Given the description of an element on the screen output the (x, y) to click on. 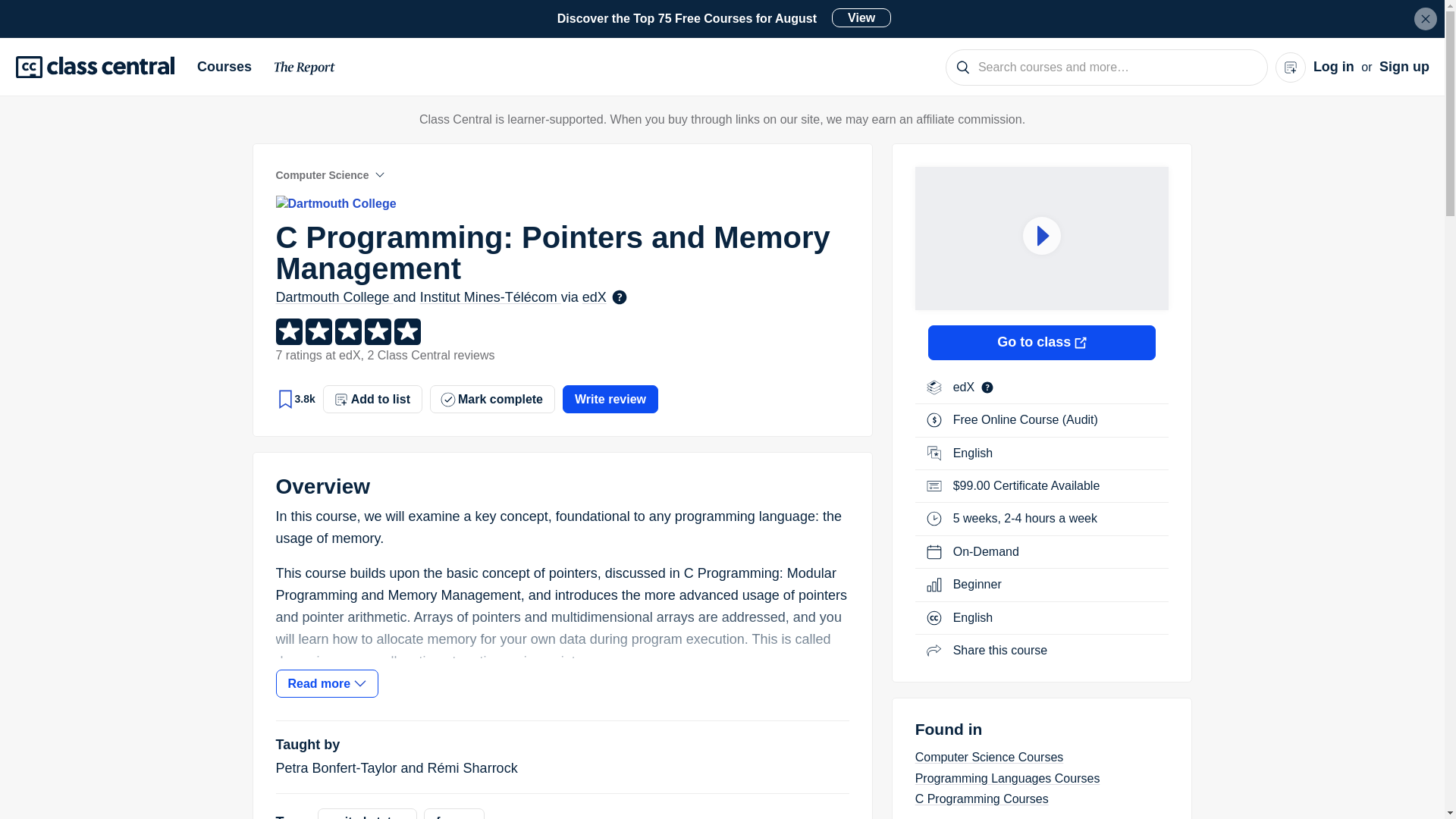
Courses (229, 66)
List of edX MOOCs (965, 386)
Close (1425, 18)
The Report (304, 69)
